Given the description of an element on the screen output the (x, y) to click on. 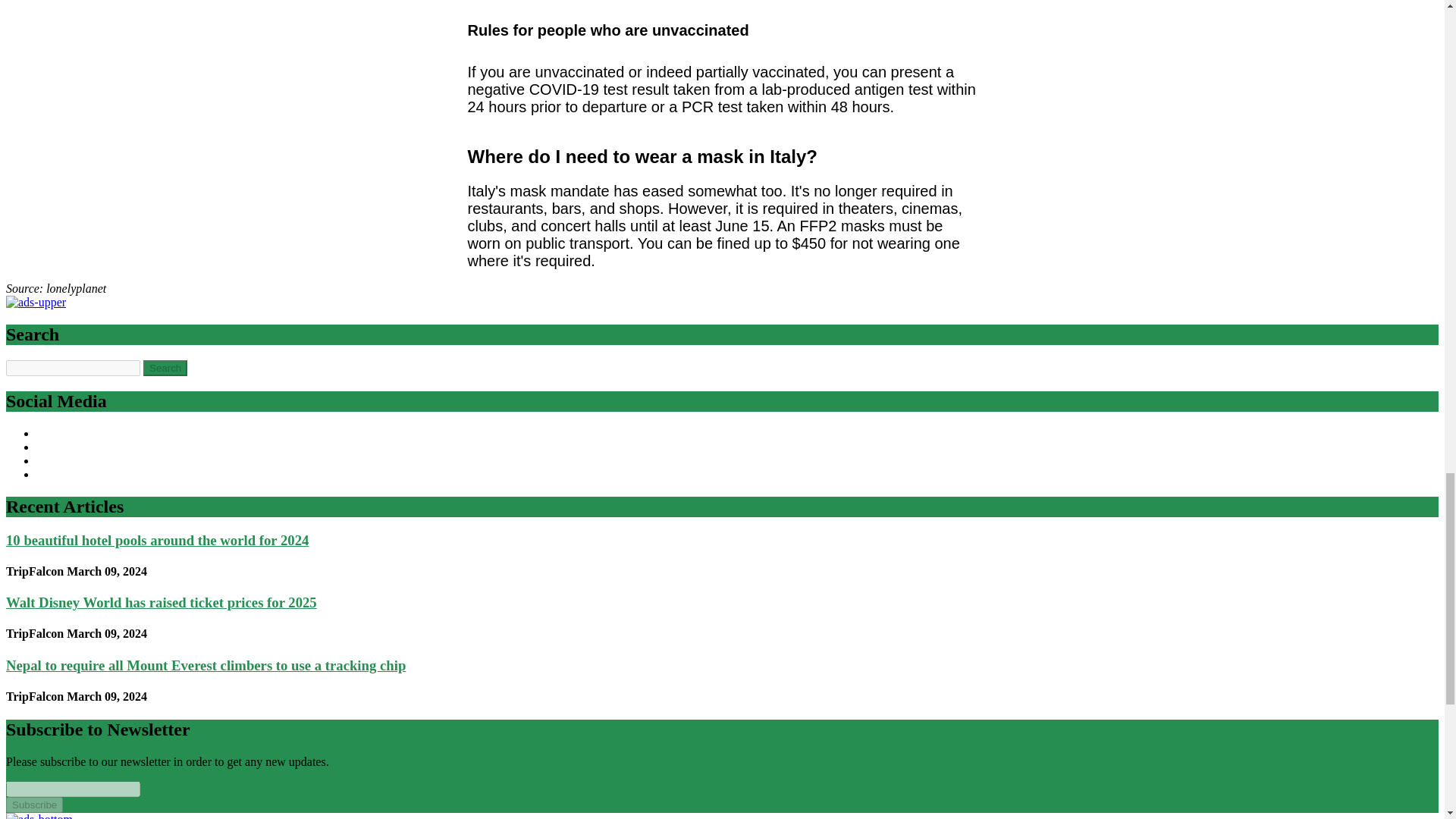
10 beautiful hotel pools around the world for 2024 (156, 539)
Walt Disney World has raised ticket prices for 2025 (161, 602)
Search (164, 367)
Subscribe (33, 804)
Search (164, 367)
Subscribe (33, 804)
